Given the description of an element on the screen output the (x, y) to click on. 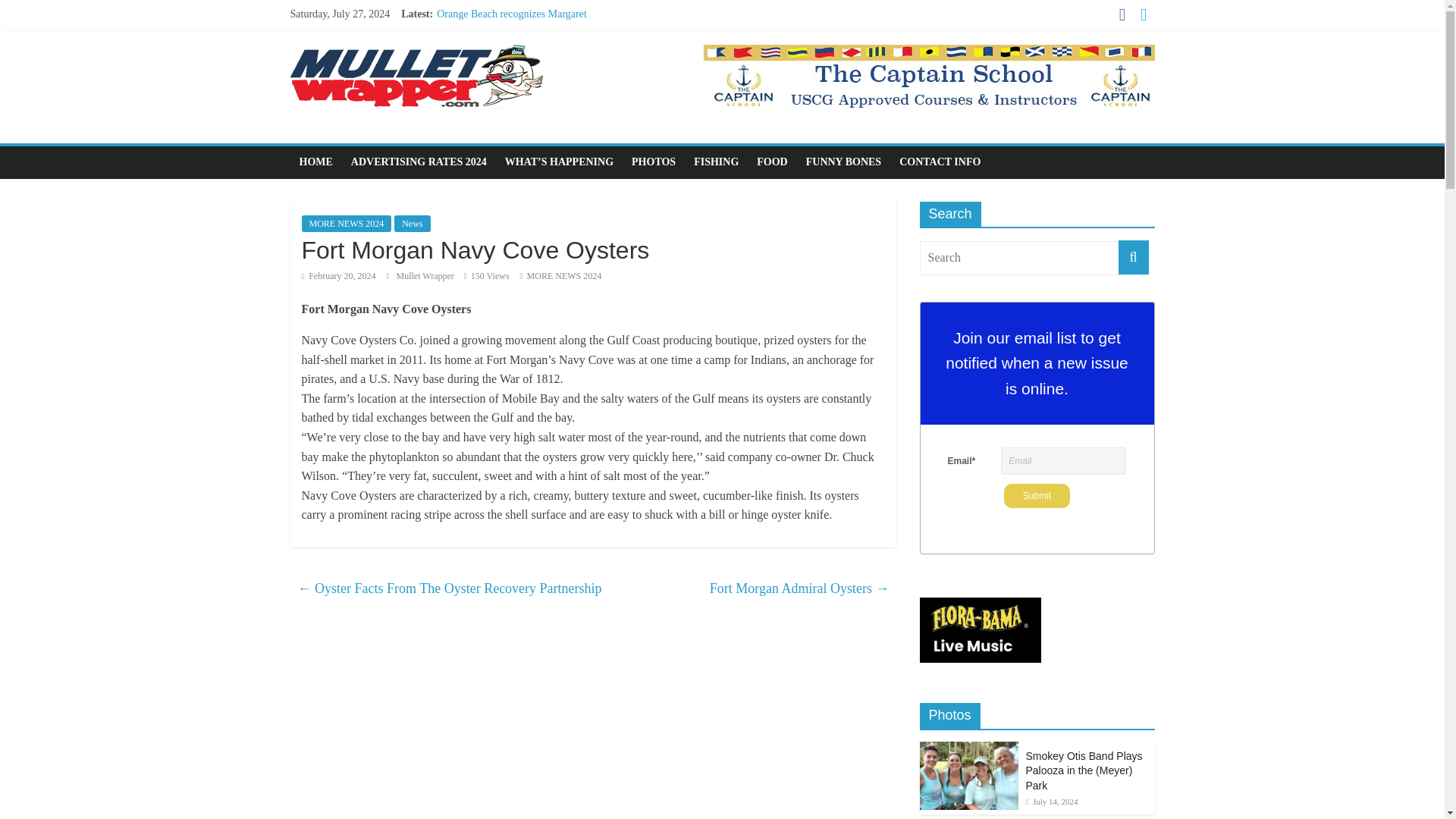
South Baldwin Newcomers Ladies Club celebrates 30 Years (522, 90)
ADVERTISING RATES 2024 (419, 162)
July 14, 2024 (1051, 800)
CONTACT INFO (939, 162)
Orange Beach recognizes Margaret Childress Long (511, 22)
Submit (1037, 495)
MORE NEWS 2024 (346, 223)
FOOD (772, 162)
FISHING (716, 162)
PHOTOS (653, 162)
Mullet Wrapper (426, 276)
Mullet Wrapper (426, 276)
